Given the description of an element on the screen output the (x, y) to click on. 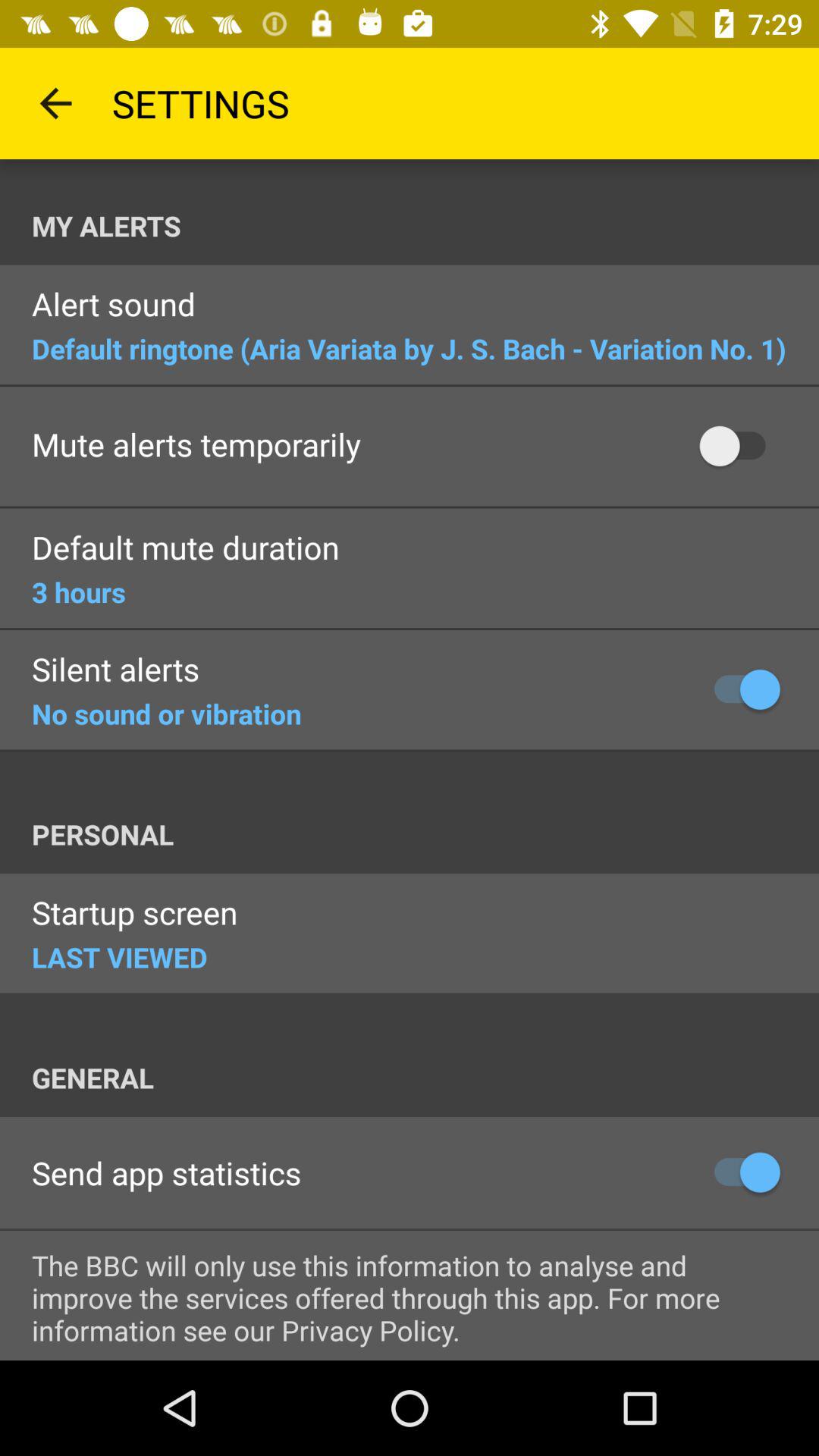
tap no sound or icon (166, 713)
